Given the description of an element on the screen output the (x, y) to click on. 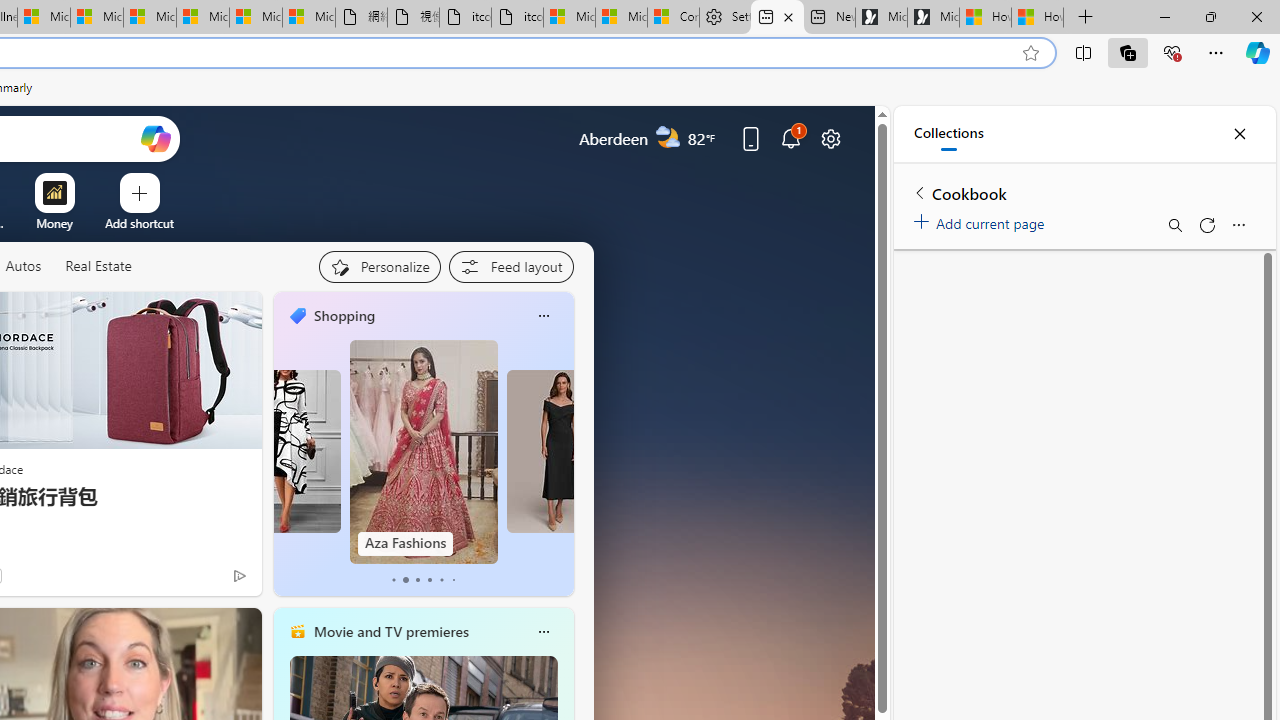
More options menu (1238, 224)
tab-1 (405, 579)
Add current page (982, 219)
